Given the description of an element on the screen output the (x, y) to click on. 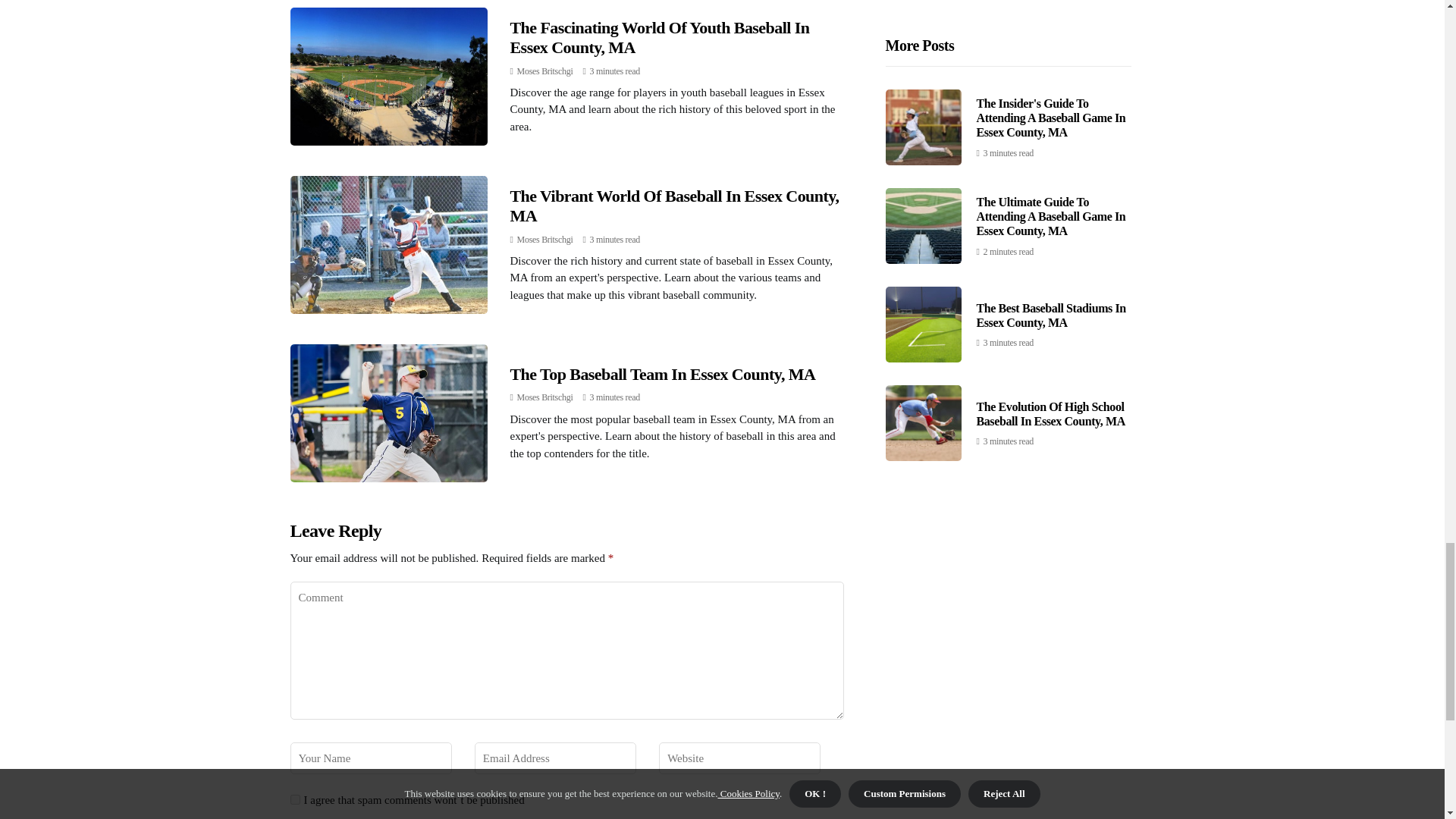
Moses Britschgi (544, 397)
The Vibrant World Of Baseball In Essex County, MA (673, 205)
The Fascinating World Of Youth Baseball In Essex County, MA (659, 37)
Moses Britschgi (544, 71)
Posts by Moses Britschgi (544, 239)
Moses Britschgi (544, 239)
Posts by Moses Britschgi (544, 397)
yes (294, 799)
Posts by Moses Britschgi (544, 71)
The Top Baseball Team In Essex County, MA (662, 374)
